Given the description of an element on the screen output the (x, y) to click on. 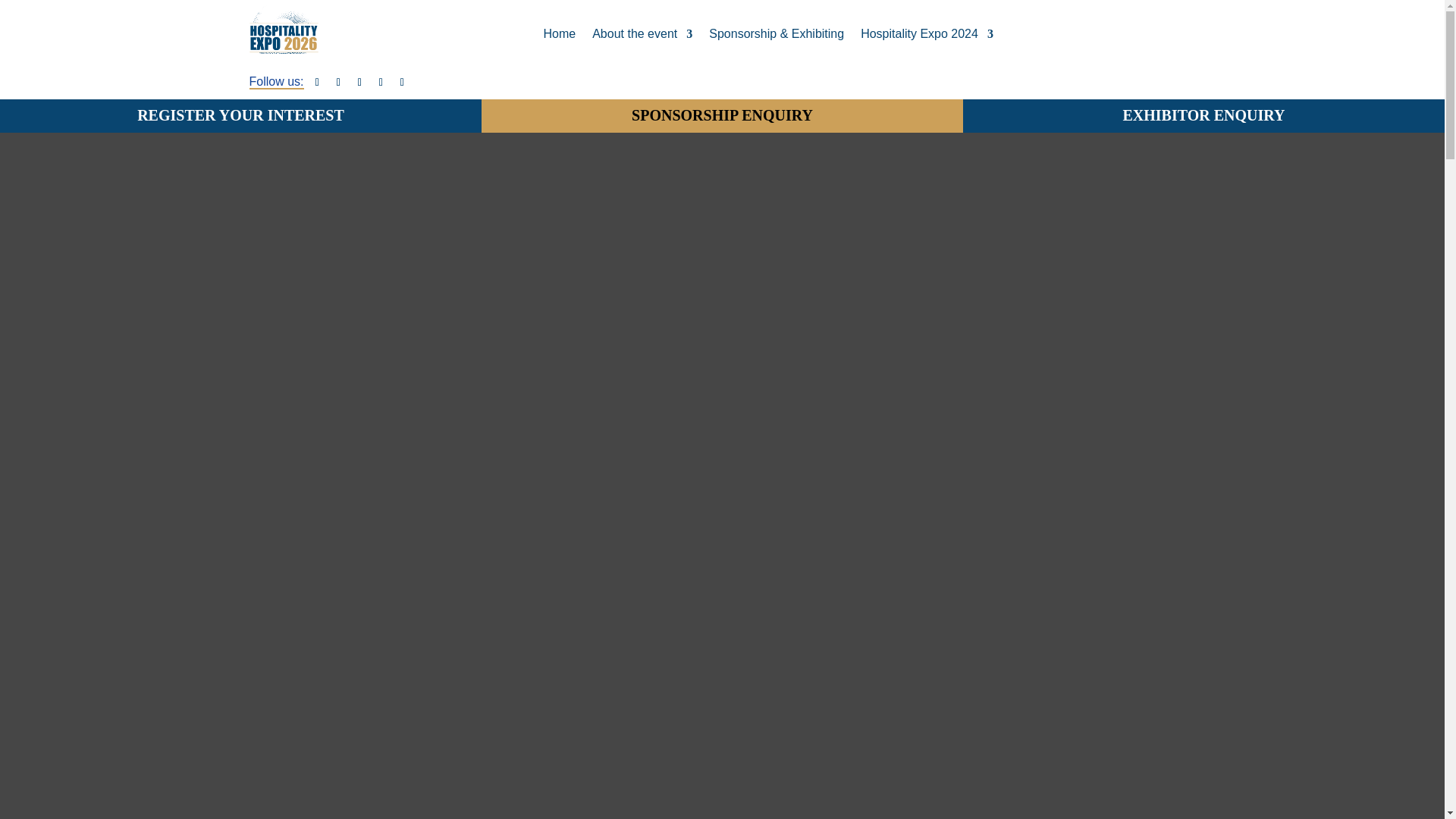
REGISTER YOUR INTEREST (240, 115)
Hospitality Expo 2024 (926, 34)
Follow on Instagram (380, 82)
SPONSORSHIP ENQUIRY (721, 115)
Follow on TikTok (401, 82)
About the event (642, 34)
Follow on X (338, 82)
Follow on LinkedIn (359, 82)
Follow on Facebook (316, 82)
